Given the description of an element on the screen output the (x, y) to click on. 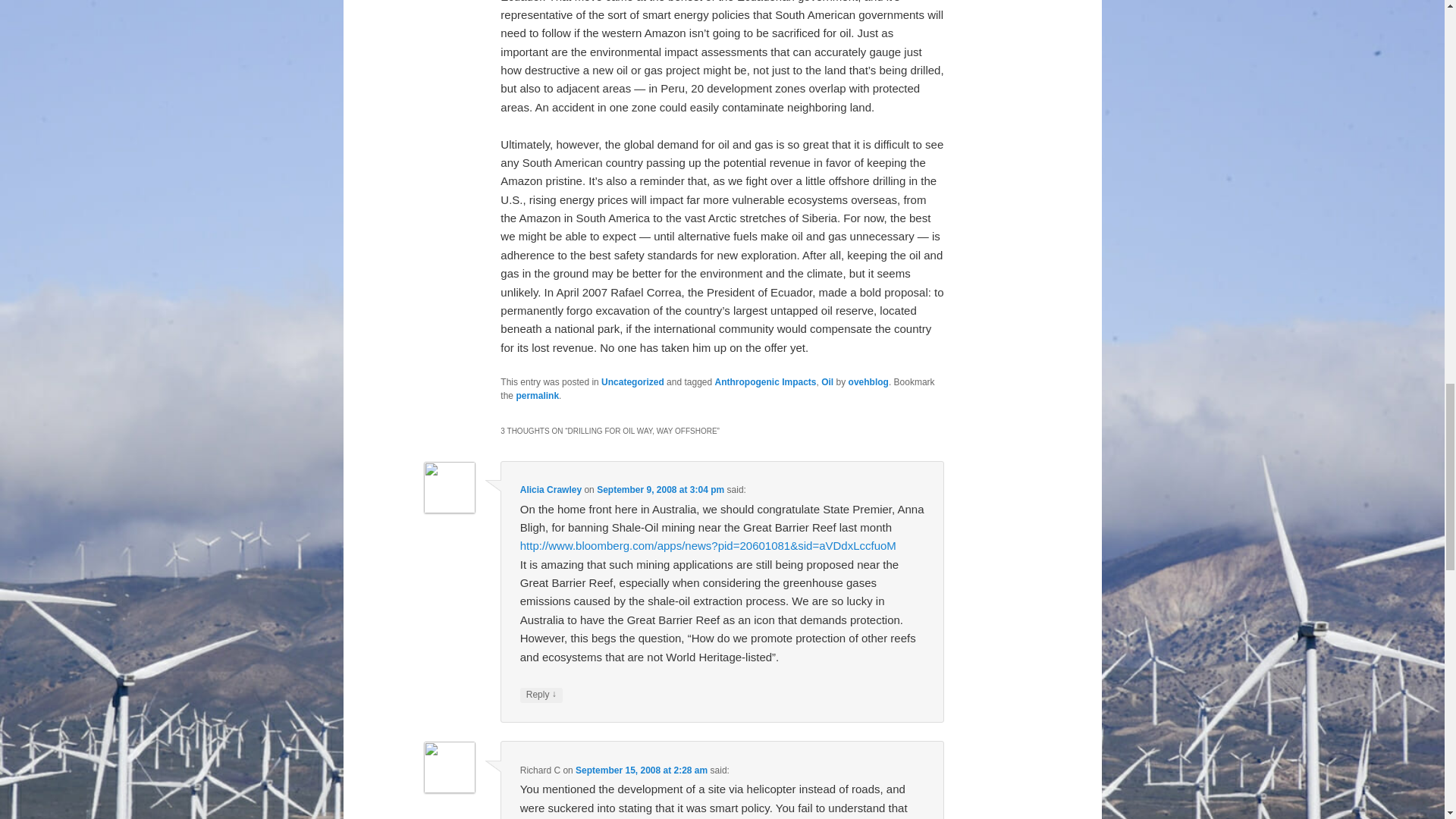
September 9, 2008 at 3:04 pm (659, 489)
Anthropogenic Impacts (765, 381)
Permalink to Drilling for Oil Way, Way Offshore (537, 395)
Uncategorized (632, 381)
ovehblog (868, 381)
permalink (537, 395)
Oil (826, 381)
Alicia Crawley (549, 489)
September 15, 2008 at 2:28 am (641, 769)
